Given the description of an element on the screen output the (x, y) to click on. 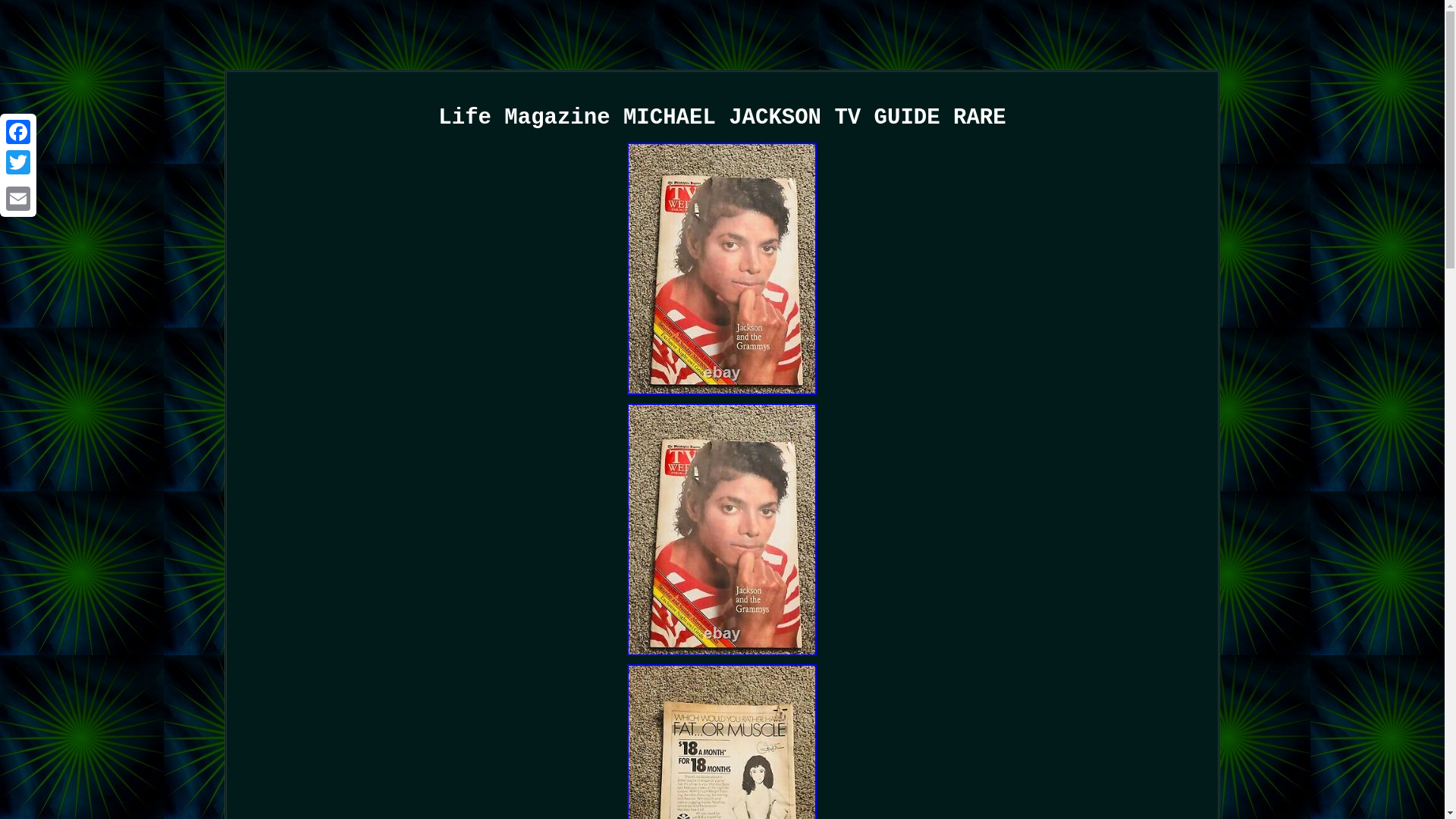
Life Magazine MICHAEL JACKSON TV GUIDE RARE (721, 741)
Twitter (17, 162)
Facebook (17, 132)
Email (17, 198)
